Given the description of an element on the screen output the (x, y) to click on. 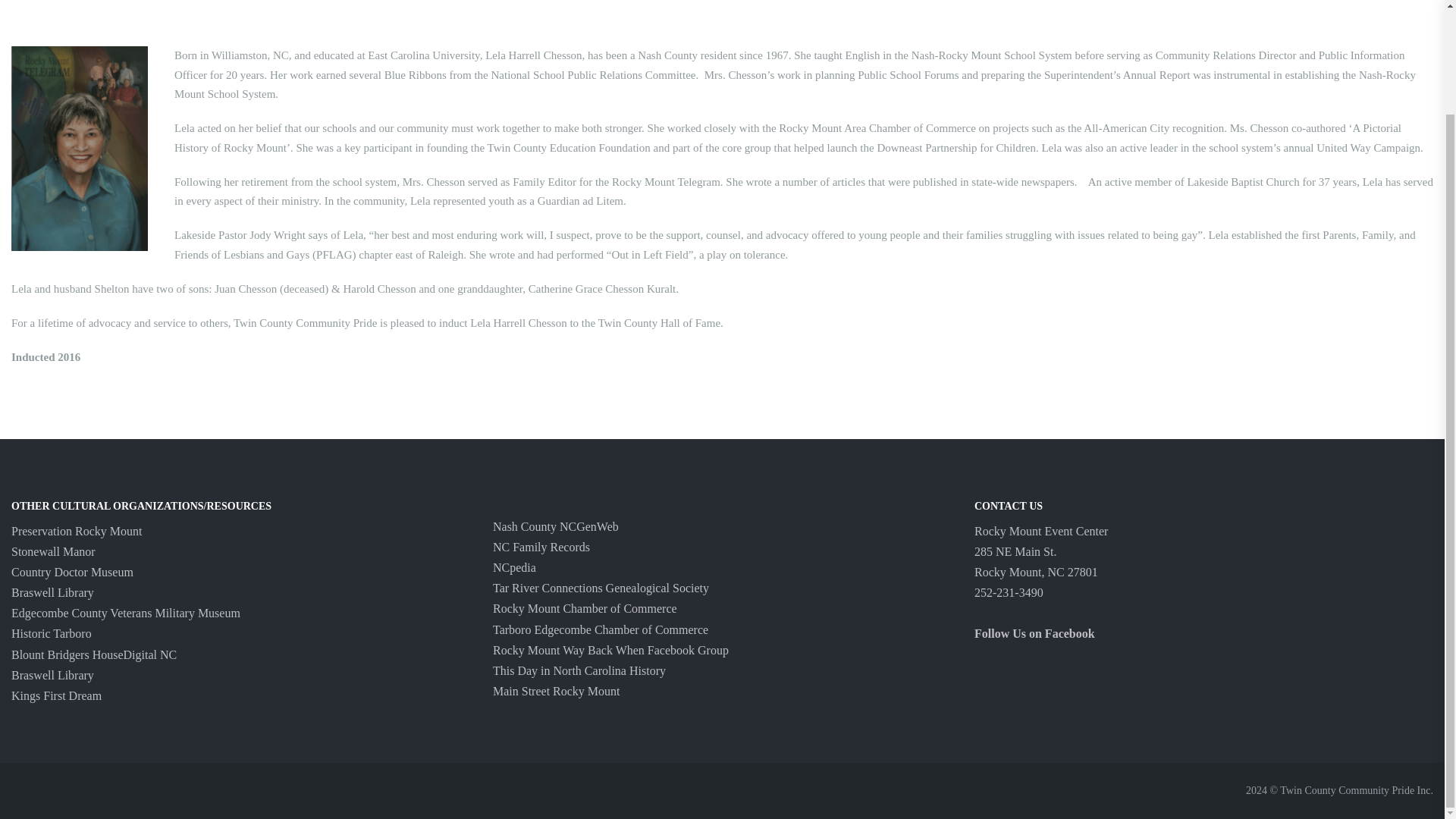
Blount Bridgers House (67, 654)
Digital NC (150, 654)
Tar River Connections Genealogical Society (601, 587)
Preservation Rocky Mount (76, 530)
Edgecombe County Veterans Military Museum (125, 612)
Country Doctor Museum (72, 571)
Braswell Library (52, 675)
NCpedia (514, 567)
Rocky Mount Chamber of Commerce (585, 608)
NC Family Records (541, 546)
